Given the description of an element on the screen output the (x, y) to click on. 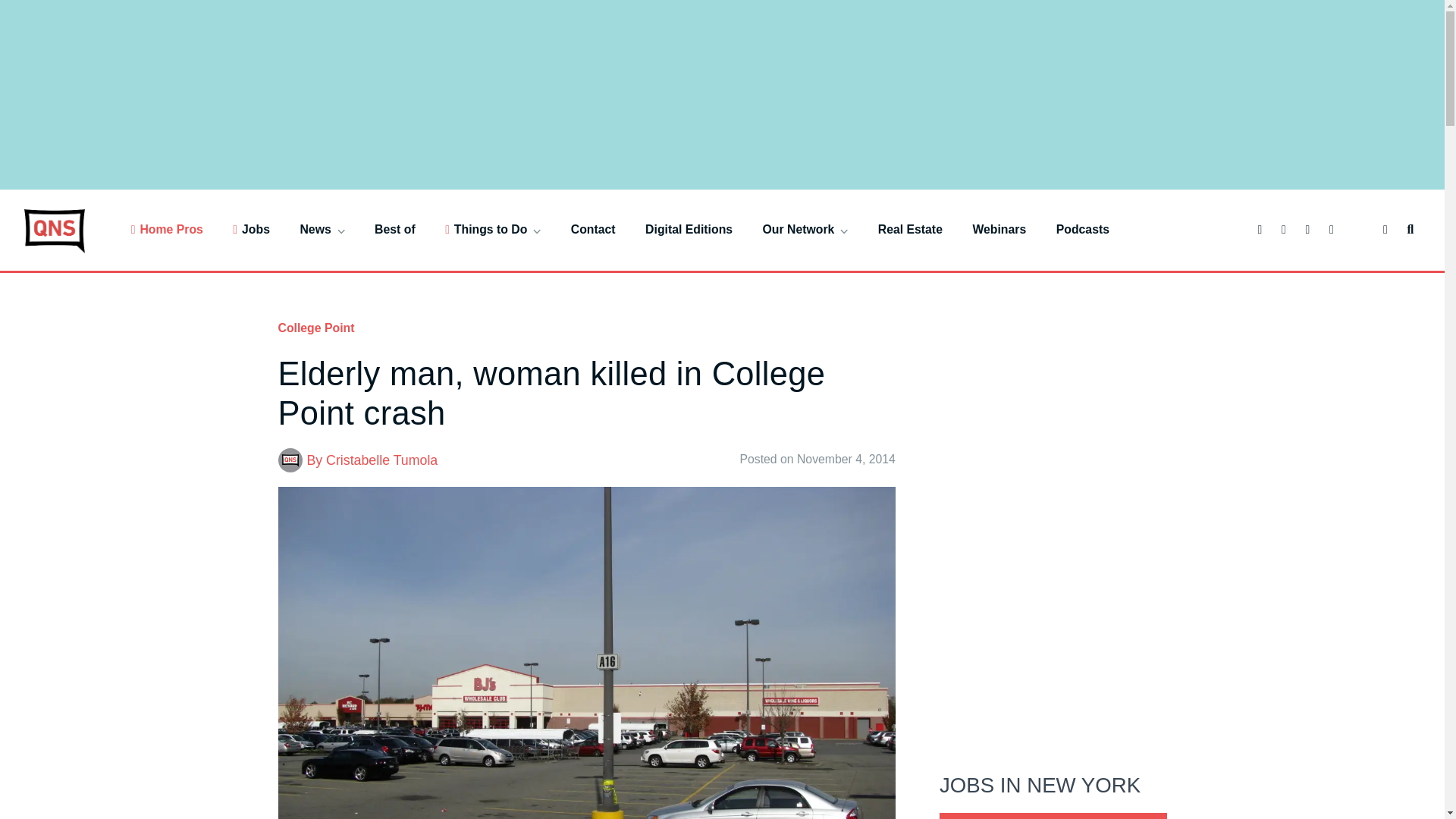
Jobs (250, 228)
Our Network (805, 228)
Digital Editions (688, 228)
Contact (592, 228)
Podcasts (1083, 228)
Webinars (999, 228)
Posts by Cristabelle Tumola (382, 459)
News (321, 228)
Real Estate (909, 228)
Things to Do (492, 228)
